Given the description of an element on the screen output the (x, y) to click on. 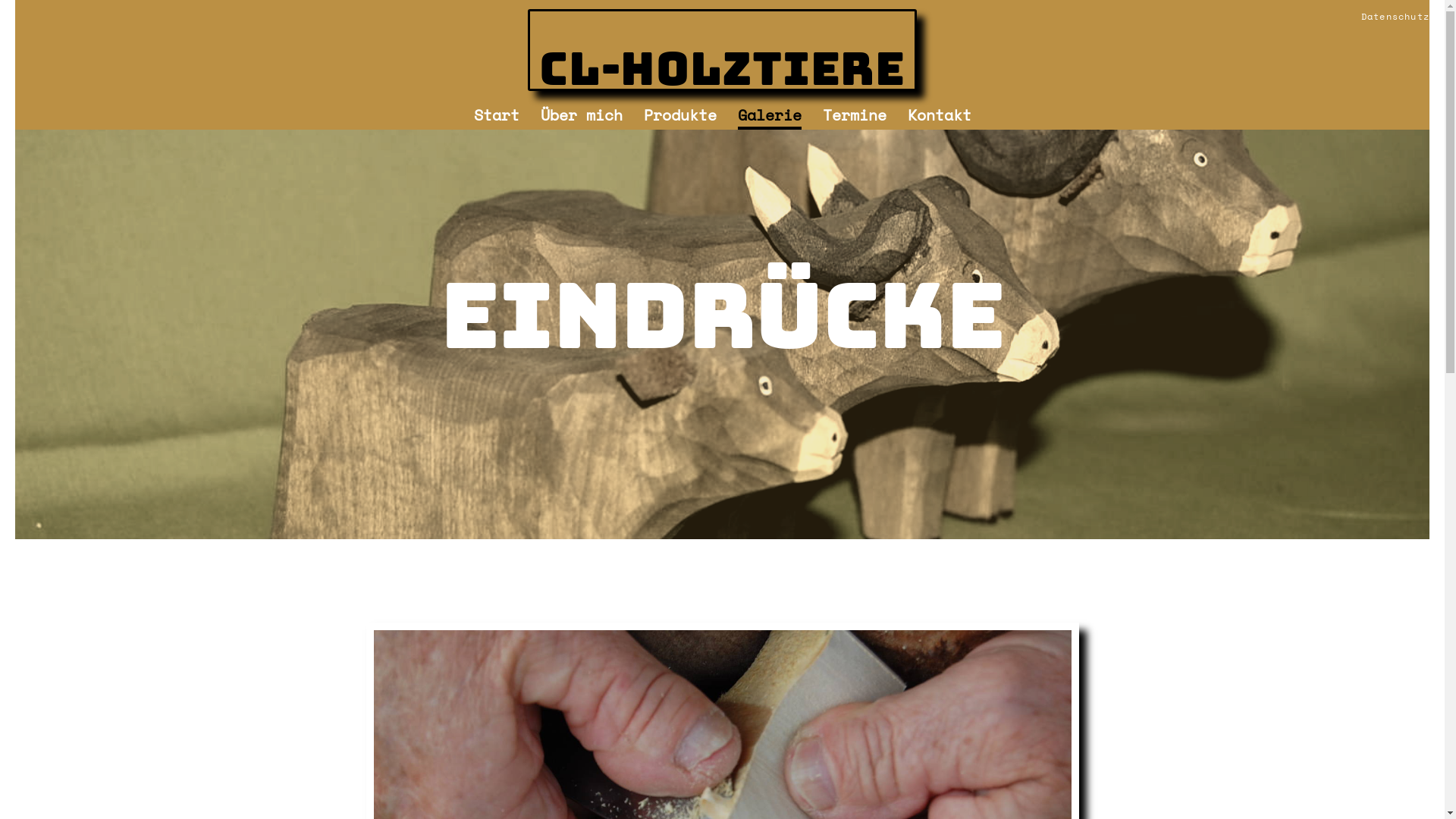
Produkte Element type: text (680, 116)
Galerie Element type: text (769, 116)
Termine Element type: text (854, 116)
Datenschutz Element type: text (1393, 17)
Start Element type: text (496, 116)
cl-hOLZTIERE Element type: text (722, 49)
Kontakt Element type: text (939, 116)
